Given the description of an element on the screen output the (x, y) to click on. 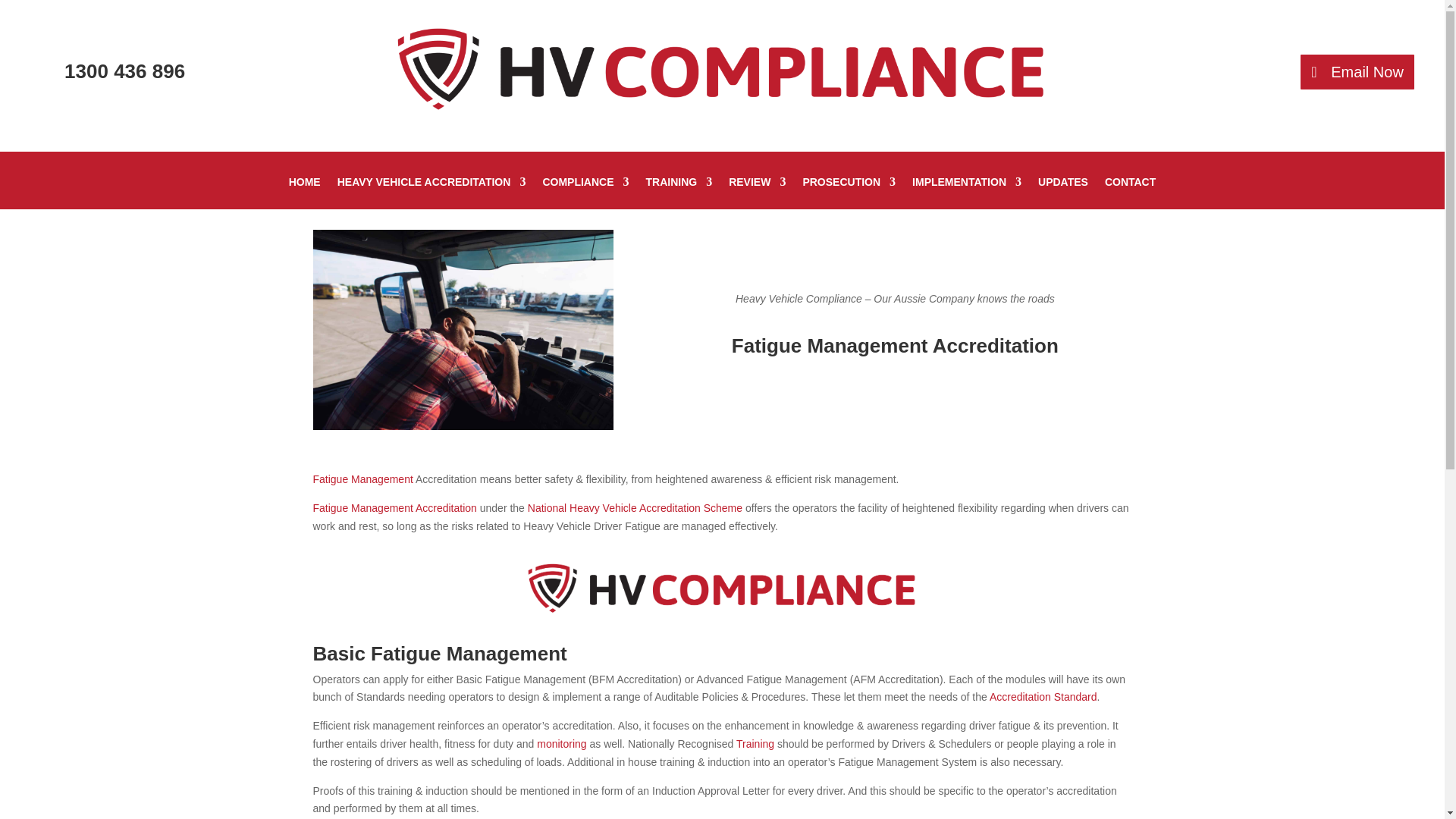
HOME (304, 192)
1300 436 896 (124, 70)
HEAVY VEHICLE ACCREDITATION (431, 192)
REVIEW (757, 192)
TRAINING (679, 192)
COMPLIANCE (584, 192)
PROSECUTION (848, 192)
Heavy Vehicle Compliance and Accreditation (721, 72)
Email Now (1356, 71)
